Given the description of an element on the screen output the (x, y) to click on. 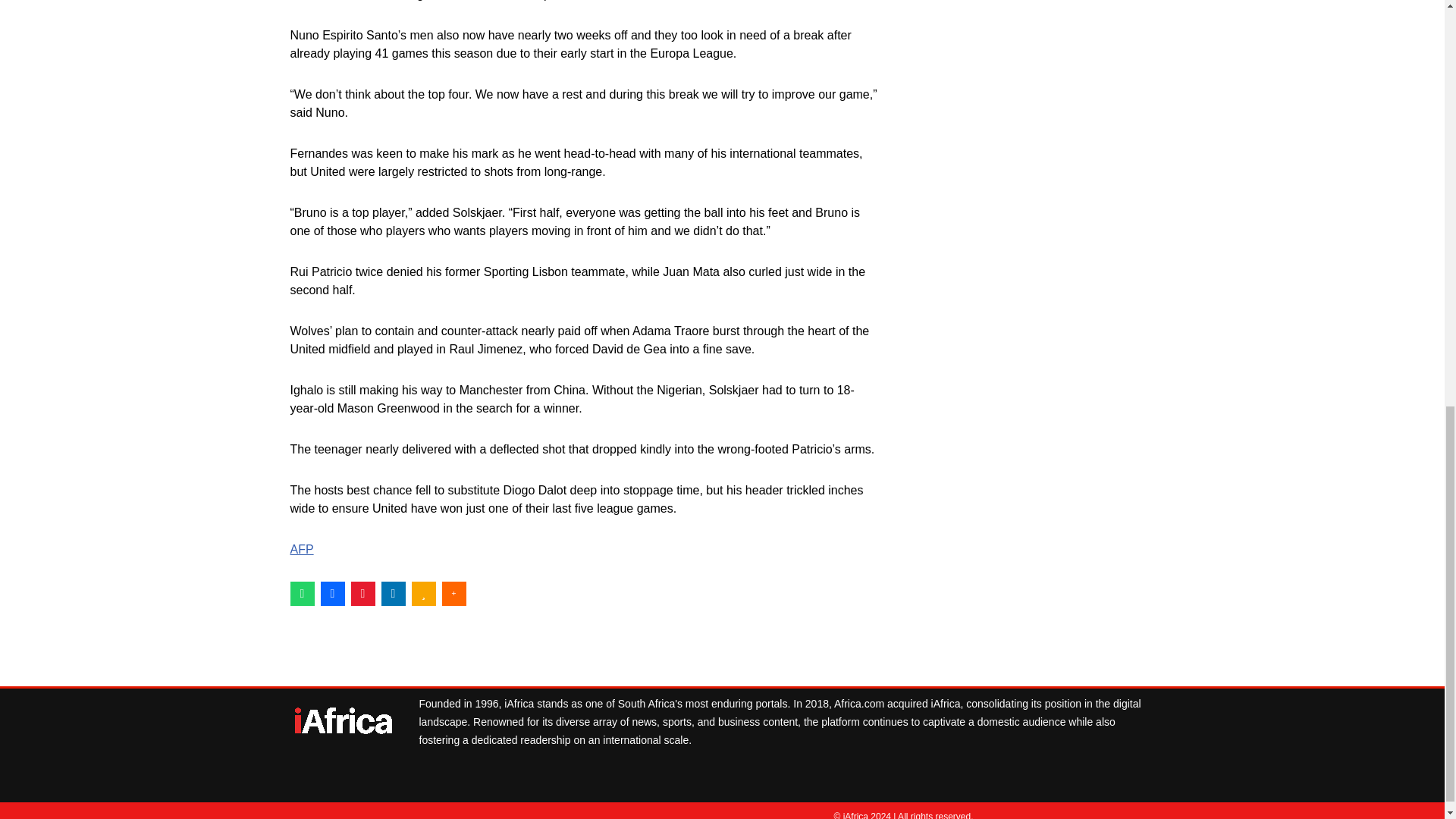
Add this to LinkedIn (392, 592)
More share links (453, 592)
Share this on Facebook (331, 592)
Add to favorites (422, 592)
Convert to PDF (362, 592)
AFP (301, 549)
WhatsApp (301, 592)
